Given the description of an element on the screen output the (x, y) to click on. 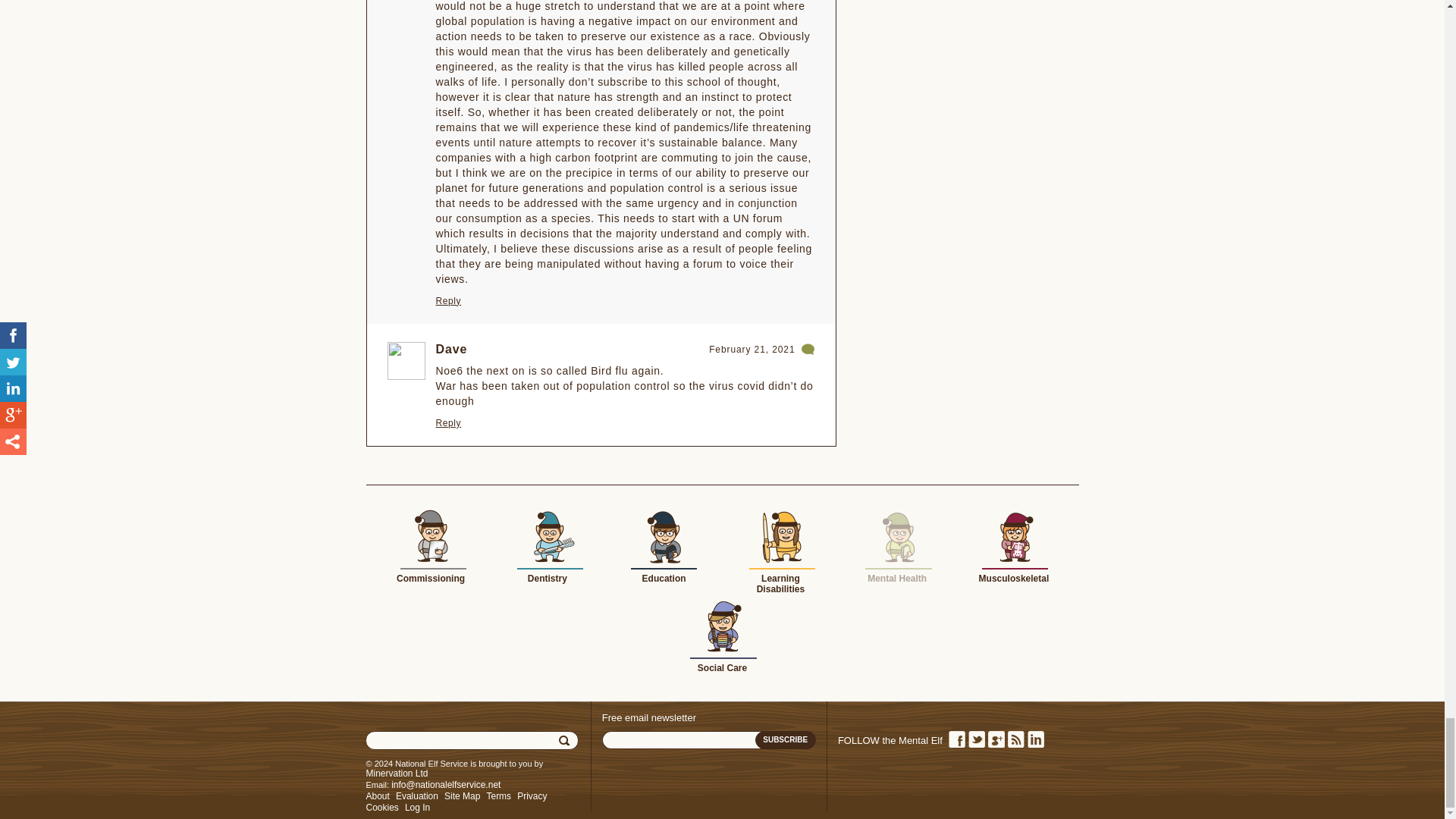
Subscribe (785, 740)
Search (565, 741)
